Given the description of an element on the screen output the (x, y) to click on. 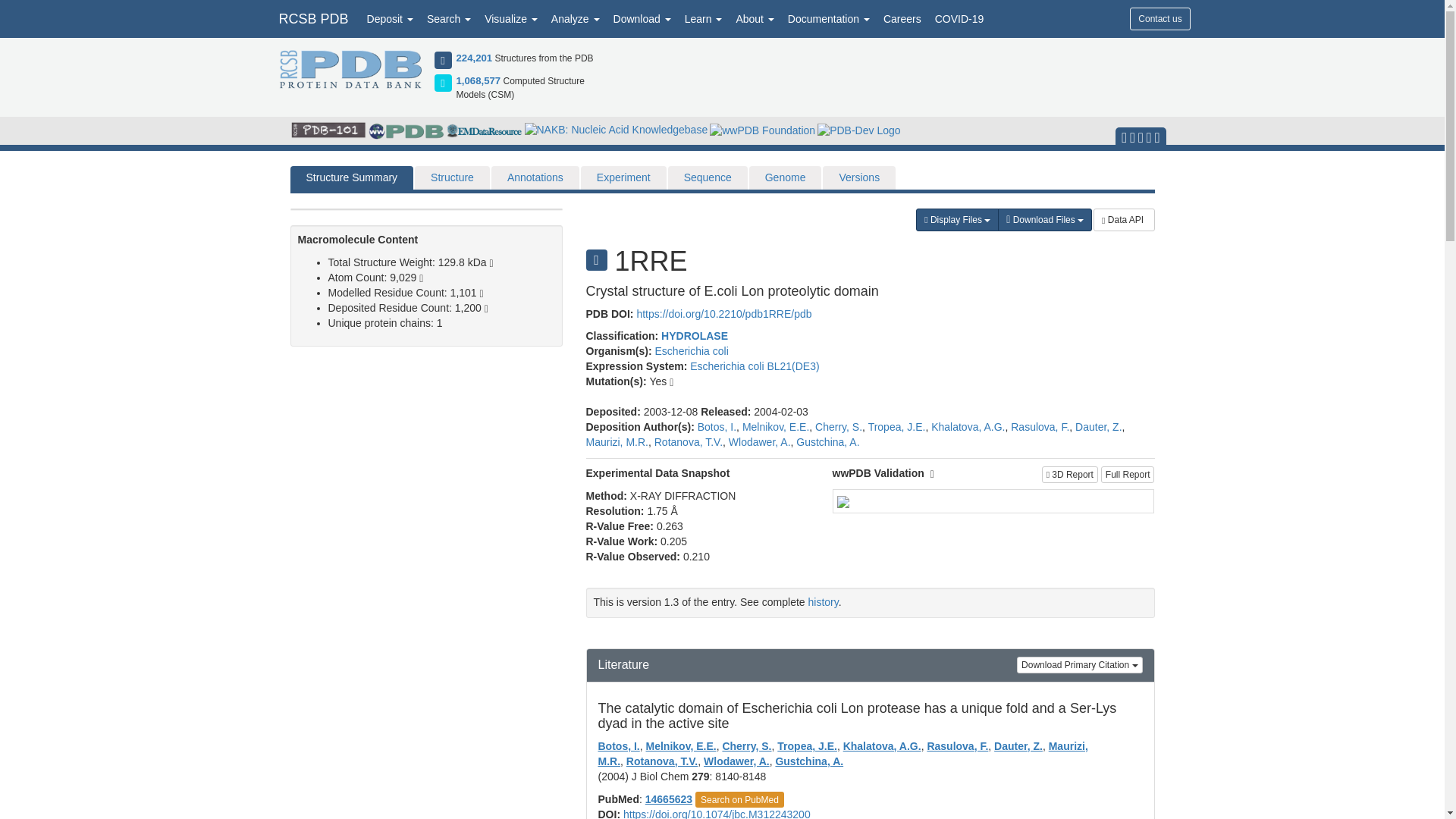
Analyze  (575, 18)
Visualize  (510, 18)
Search  (448, 18)
Deposit  (389, 18)
RCSB PDB (312, 18)
